Given the description of an element on the screen output the (x, y) to click on. 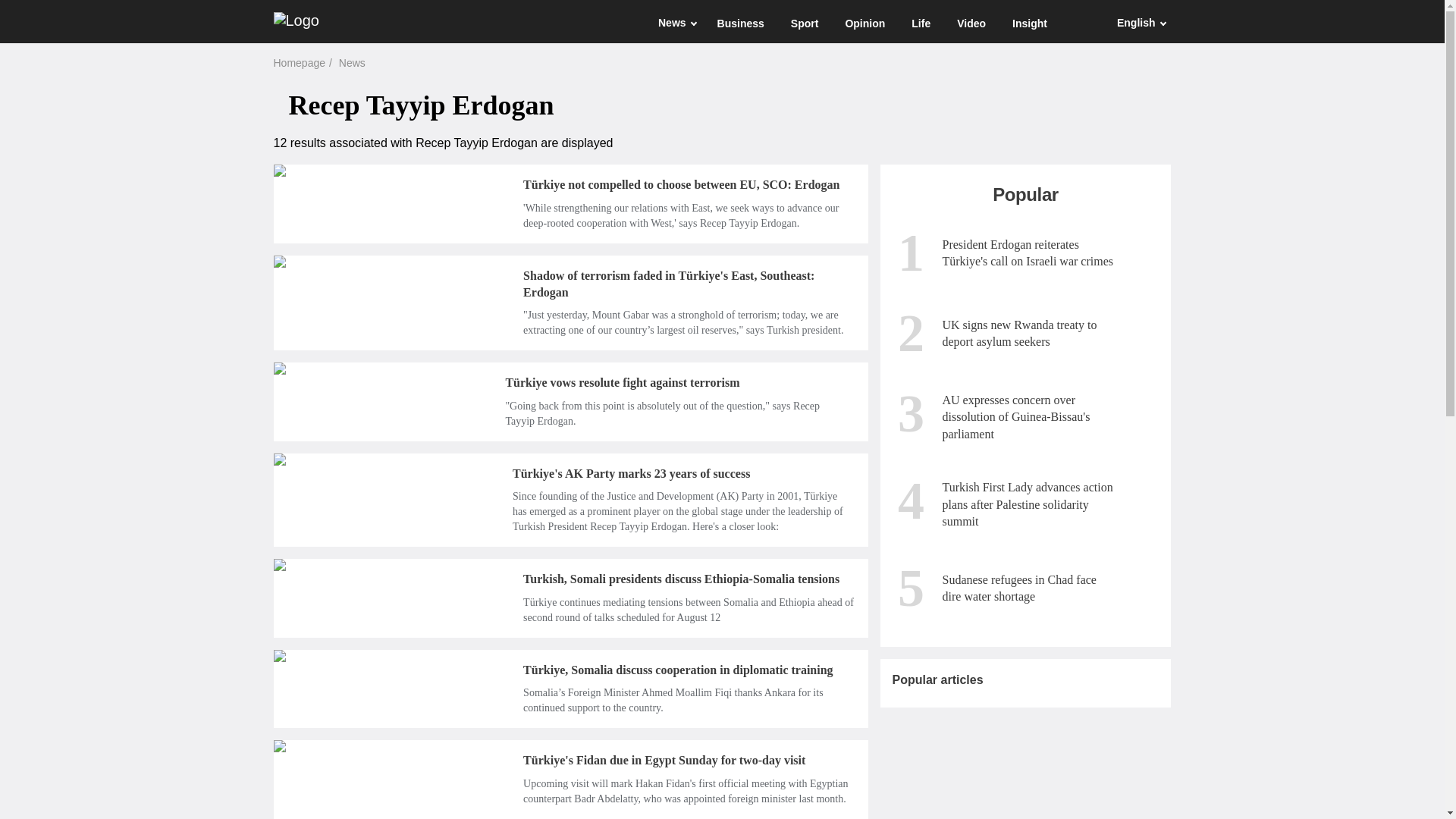
Submit (1080, 20)
Business (738, 22)
Sport (802, 22)
News (670, 22)
Life (919, 22)
Homepage (298, 63)
Opinion (862, 22)
Insight (1027, 22)
